Given the description of an element on the screen output the (x, y) to click on. 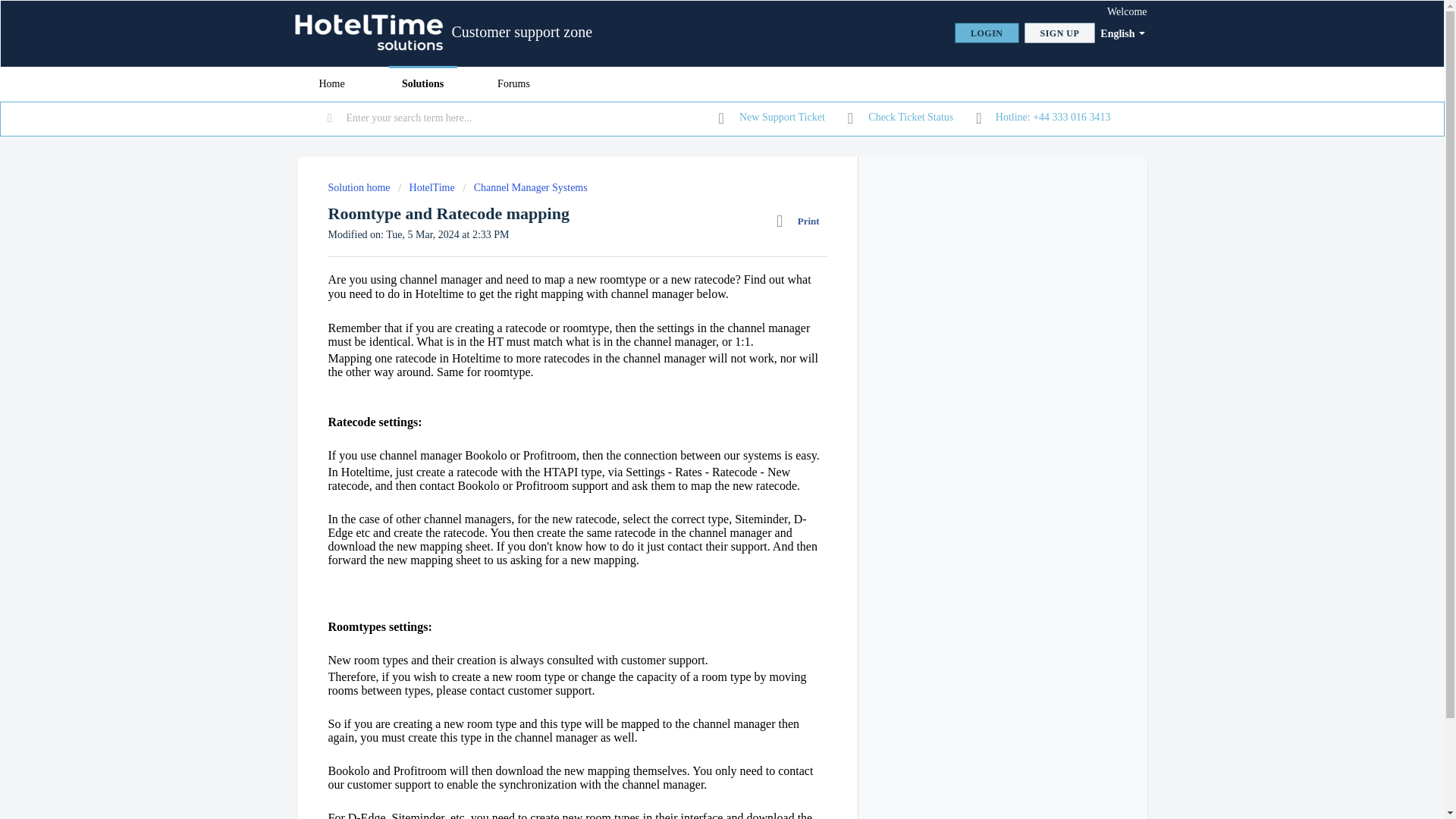
Check ticket status (900, 117)
HotelTime (425, 187)
New Support Ticket (772, 117)
Check Ticket Status (900, 117)
Solution home (360, 187)
Channel Manager Systems (525, 187)
Print this Article (801, 220)
LOGIN (987, 32)
SIGN UP (1060, 32)
Home (331, 83)
